Given the description of an element on the screen output the (x, y) to click on. 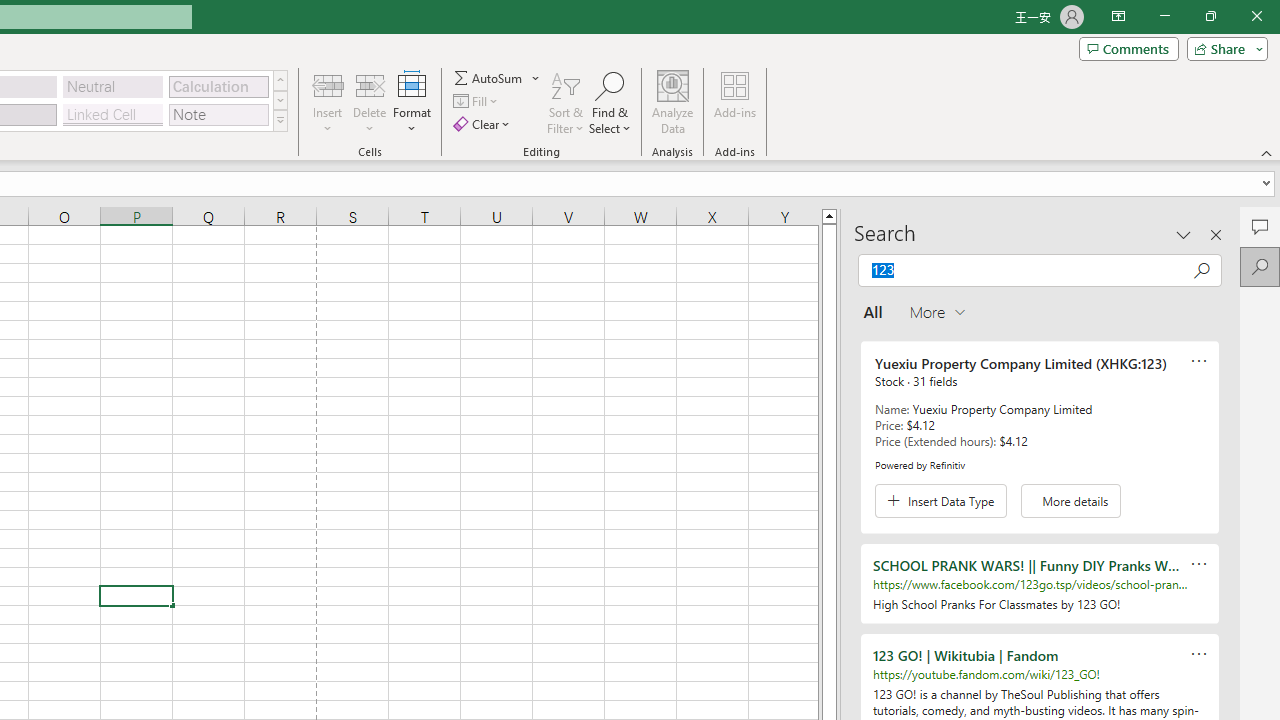
Comments (1260, 226)
More Options (536, 78)
Sort & Filter (566, 102)
Row Down (280, 100)
Task Pane Options (1183, 234)
Delete (369, 102)
Minimize (1164, 16)
Linked Cell (113, 114)
Share (1223, 48)
Close (1256, 16)
Clear (483, 124)
Line up (829, 215)
Delete Cells... (369, 84)
Cell Styles (280, 120)
